Given the description of an element on the screen output the (x, y) to click on. 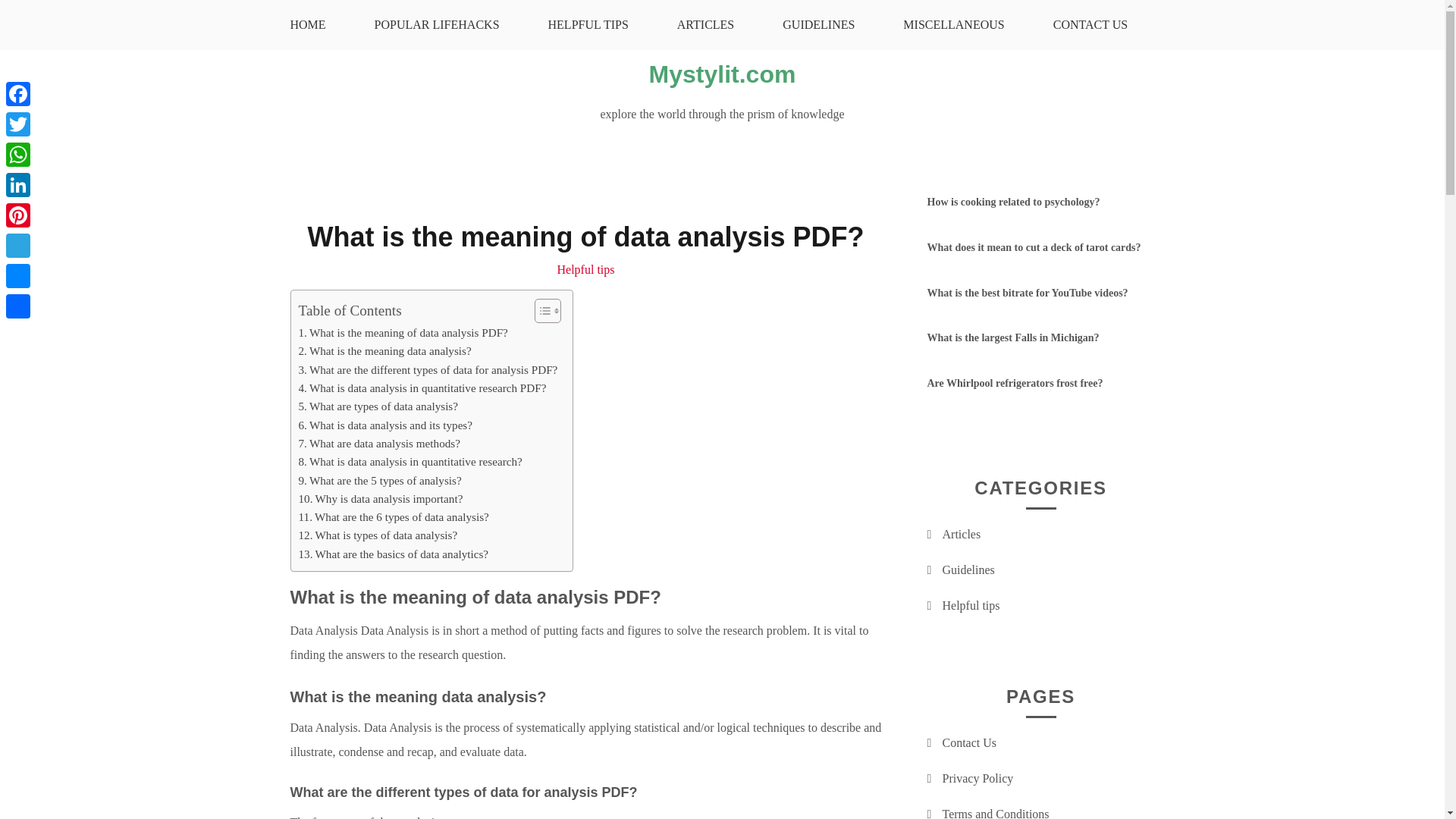
What is data analysis in quantitative research? (410, 461)
What are the 5 types of analysis? (379, 480)
What is types of data analysis? (378, 535)
What are the 6 types of data analysis? (393, 516)
Why is data analysis important? (380, 498)
Mystylit.com (722, 73)
What is data analysis in quantitative research? (410, 461)
What are types of data analysis? (378, 406)
What is data analysis in quantitative research PDF? (422, 388)
CONTACT US (1090, 24)
